Given the description of an element on the screen output the (x, y) to click on. 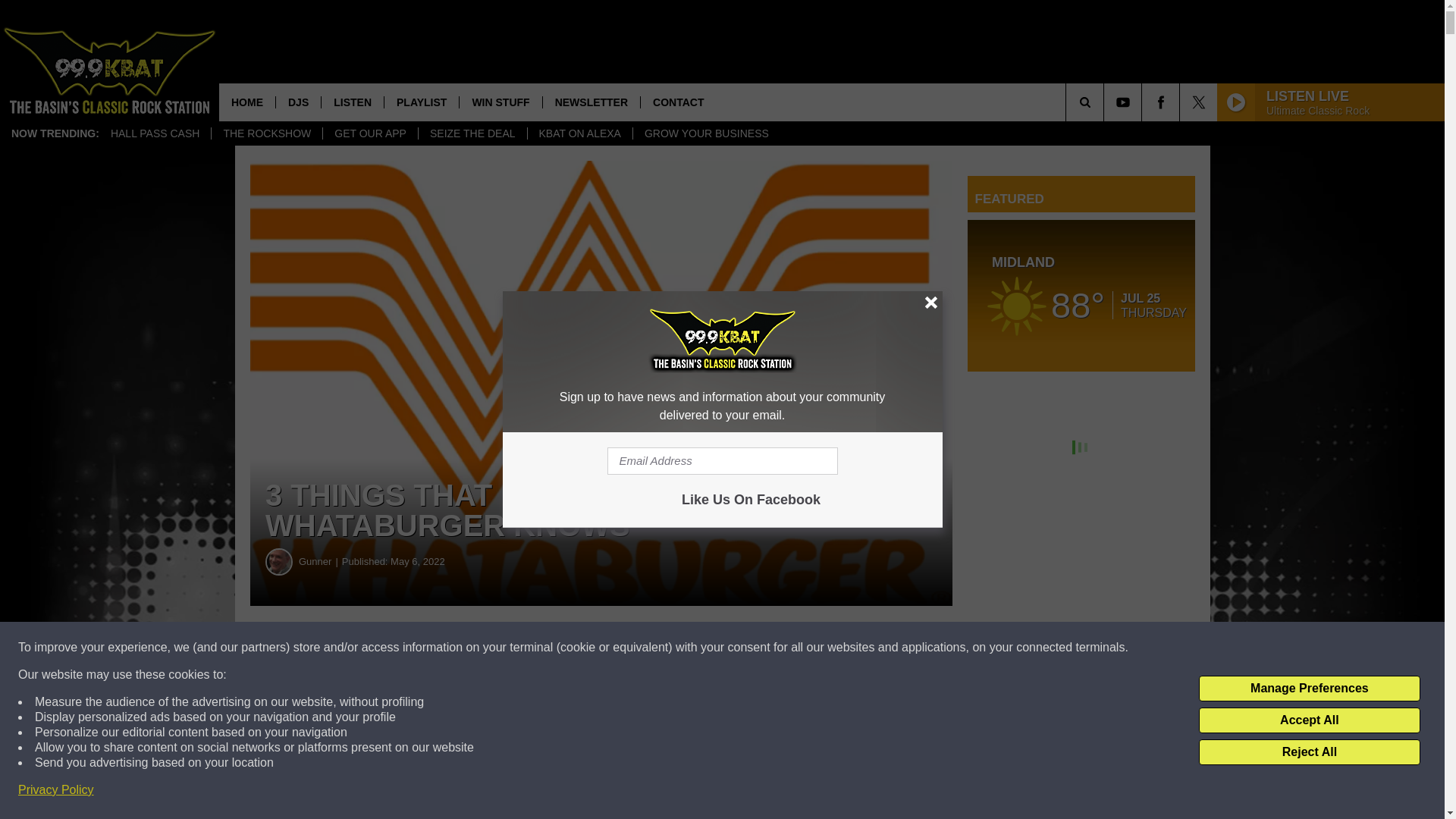
Privacy Policy (55, 789)
SEARCH (1106, 102)
GET OUR APP (369, 133)
NEWSLETTER (590, 102)
Reject All (1309, 751)
PLAYLIST (421, 102)
LISTEN (352, 102)
HOME (247, 102)
Share on Twitter (741, 647)
KBAT ON ALEXA (579, 133)
WIN STUFF (499, 102)
SEARCH (1106, 102)
Share on Facebook (460, 647)
THE ROCKSHOW (266, 133)
Accept All (1309, 720)
